Given the description of an element on the screen output the (x, y) to click on. 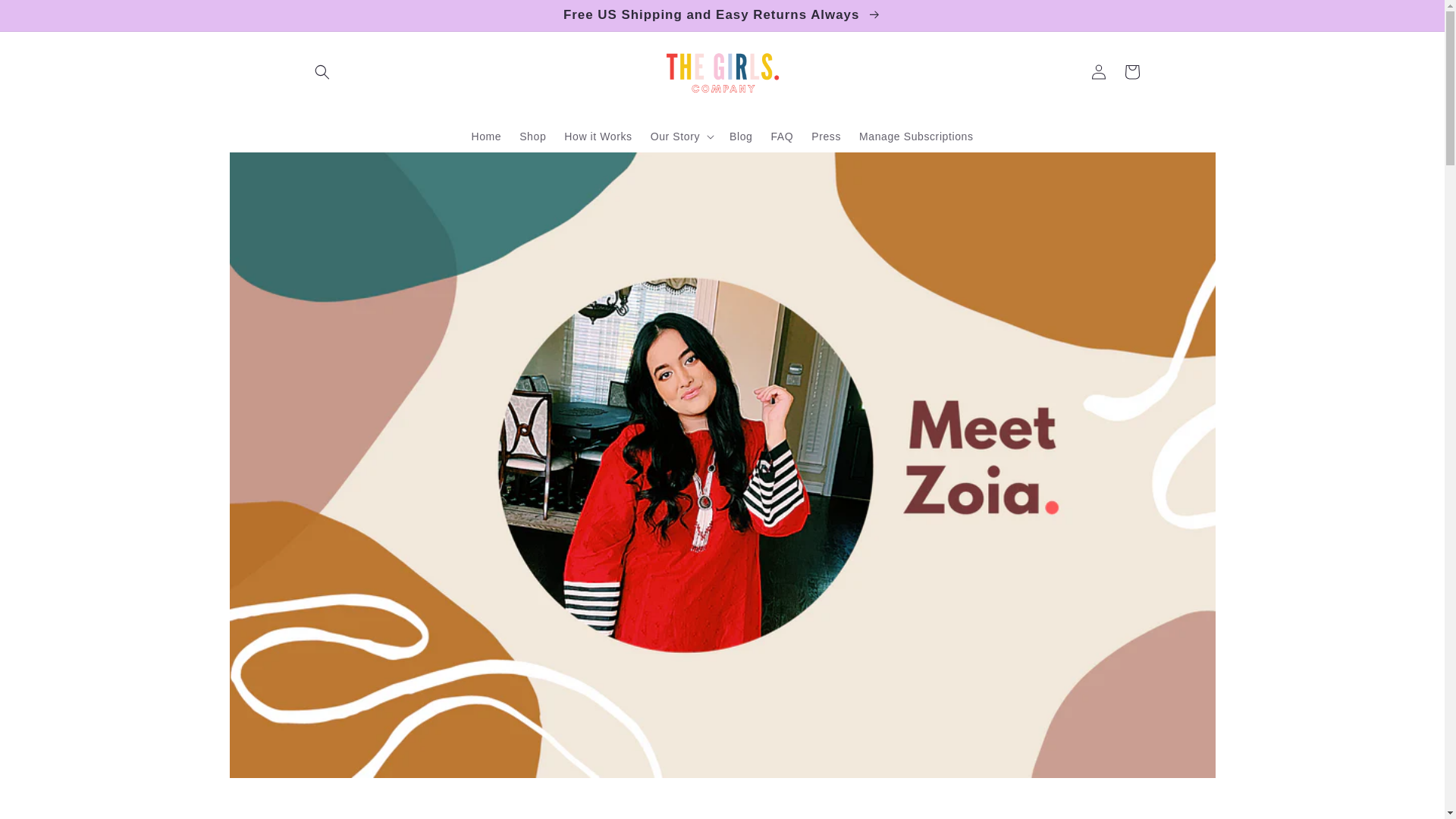
How it Works (597, 136)
Log in (1098, 71)
FAQ (781, 136)
Cart (1131, 71)
Skip to content (45, 17)
Blog (740, 136)
Shop (532, 136)
Home (486, 136)
Press (826, 136)
Manage Subscriptions (916, 136)
